Given the description of an element on the screen output the (x, y) to click on. 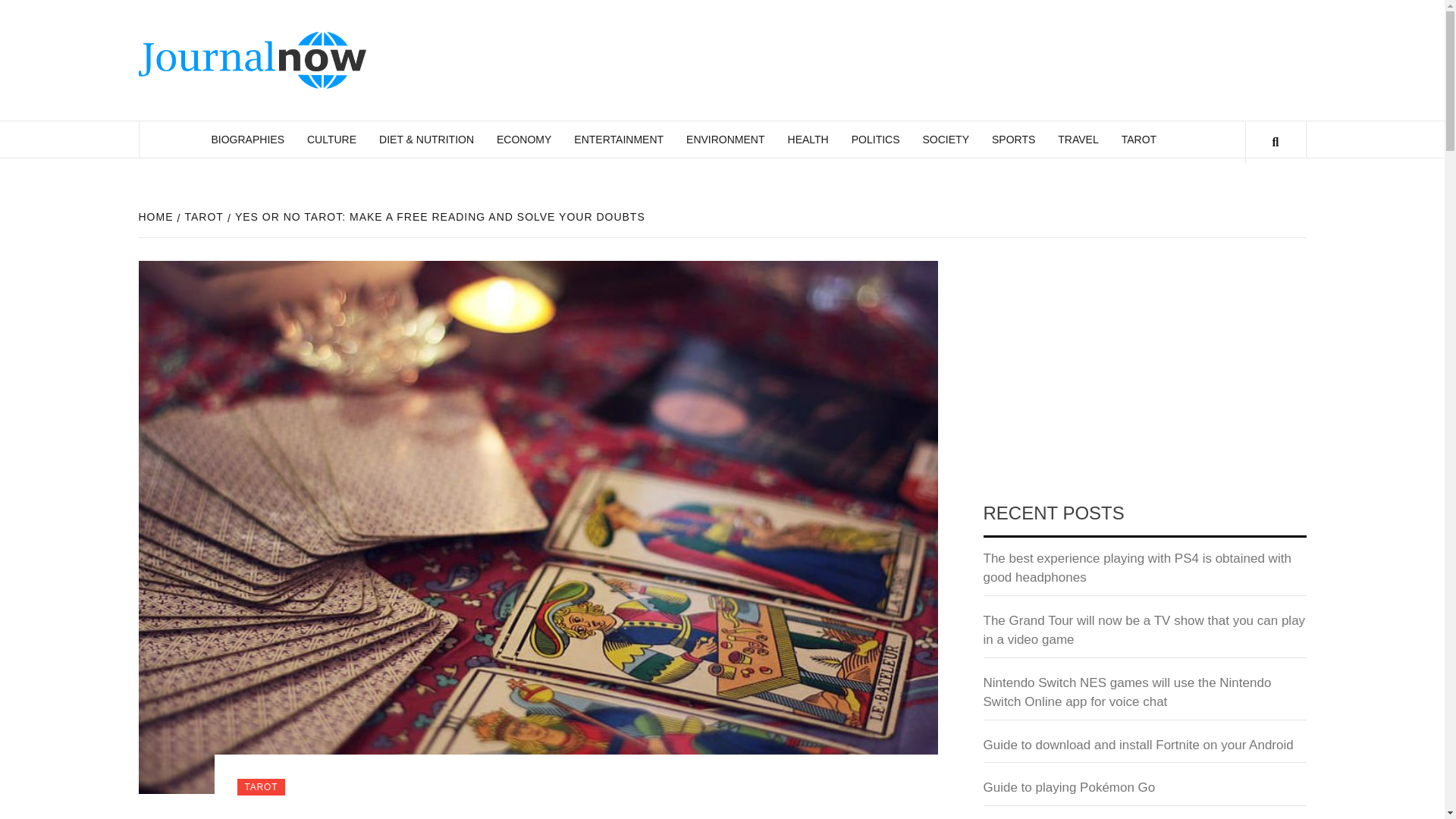
HEALTH (808, 139)
TRAVEL (1077, 139)
Advertisement (1144, 372)
TAROT (1138, 139)
BIOGRAPHIES (247, 139)
ECONOMY (523, 139)
YES OR NO TAROT: MAKE A FREE READING AND SOLVE YOUR DOUBTS (438, 216)
TAROT (202, 216)
Guide to download and install Fortnite on your Android (1144, 749)
ENTERTAINMENT (618, 139)
SOCIETY (945, 139)
HOME (157, 216)
ENVIRONMENT (725, 139)
JOURNALNOW (494, 54)
